Given the description of an element on the screen output the (x, y) to click on. 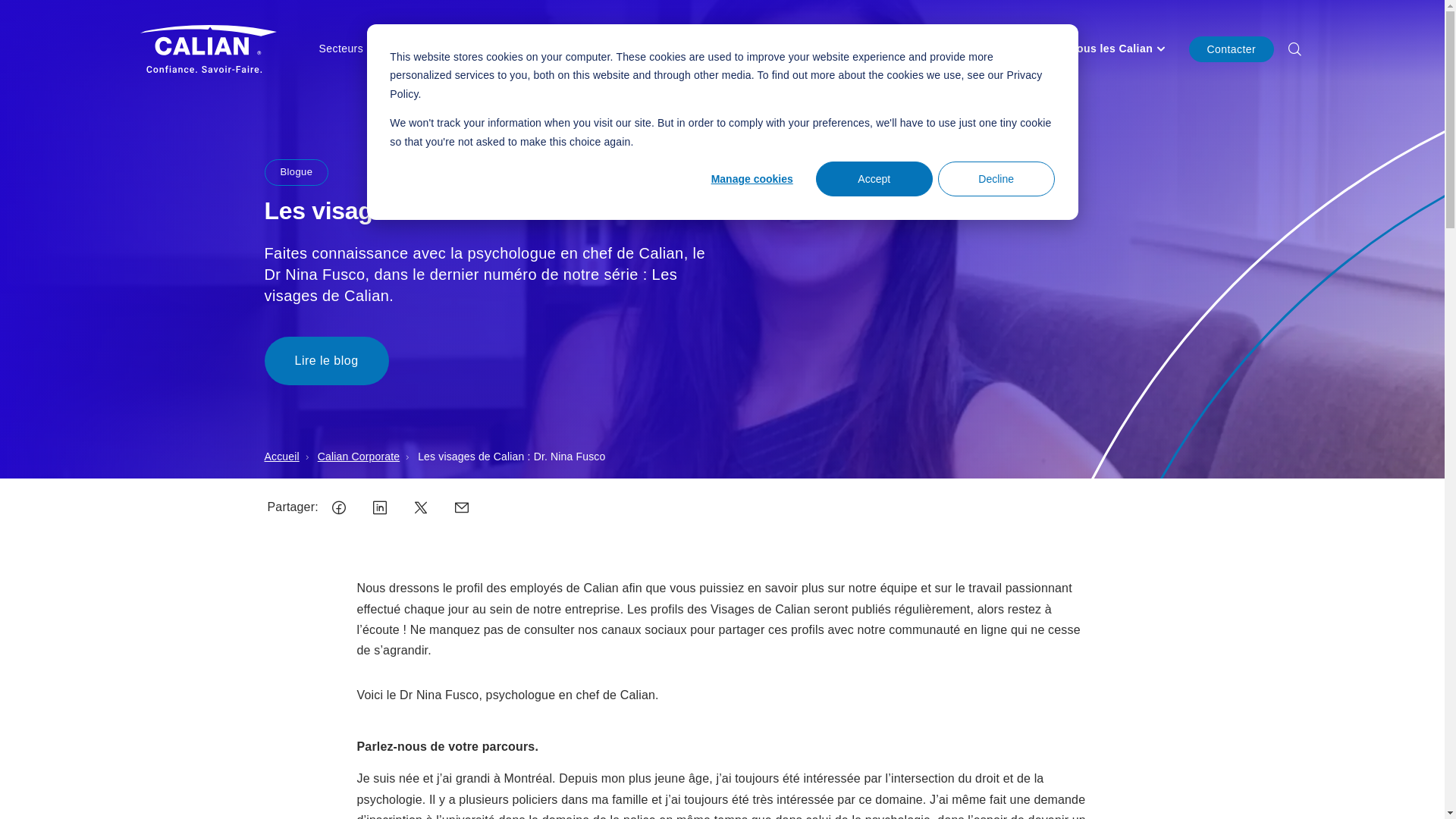
Secteurs (346, 48)
Solutions (499, 48)
Divisions (423, 48)
